Given the description of an element on the screen output the (x, y) to click on. 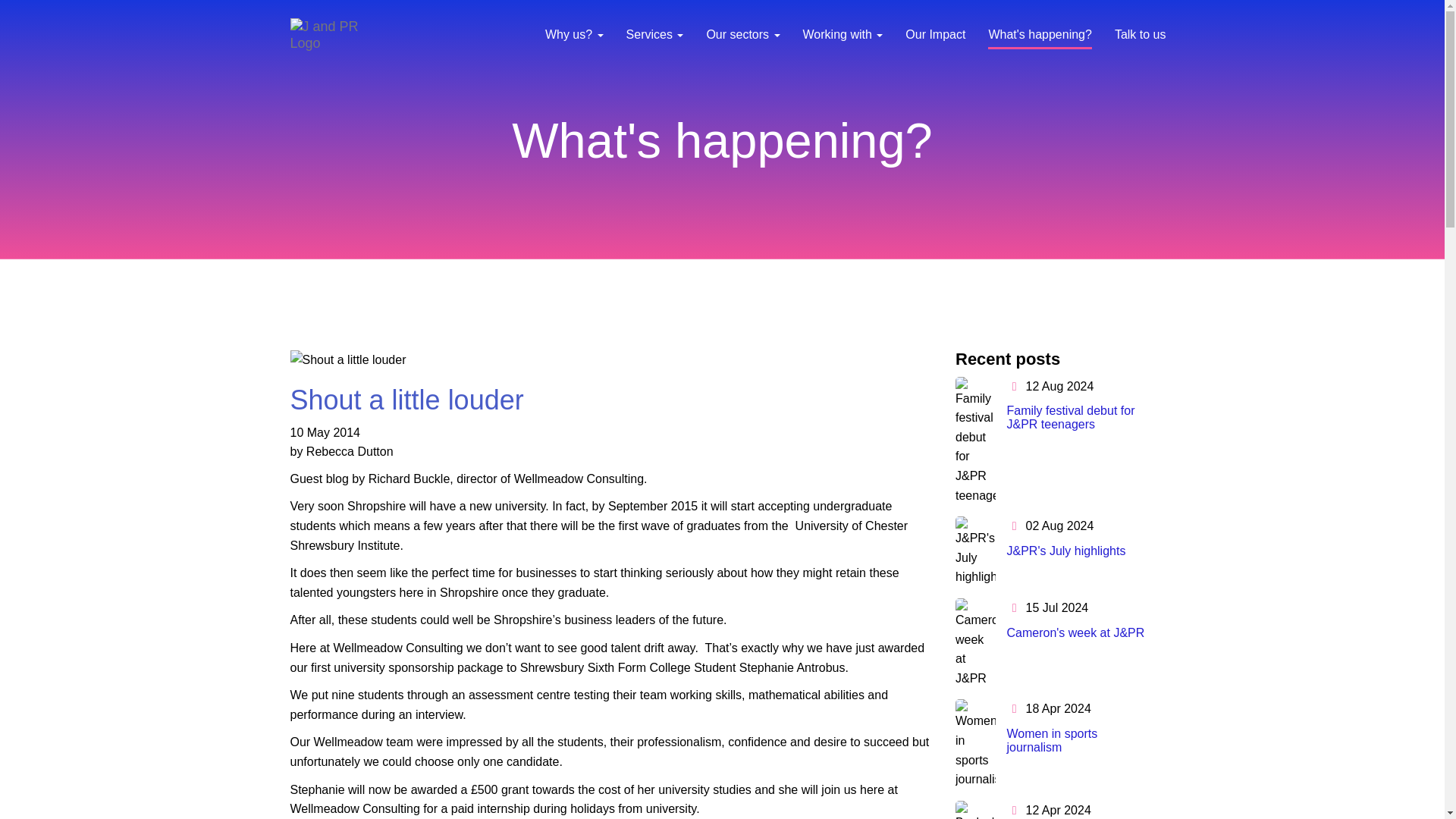
Why us? (574, 37)
What's happening? (1039, 37)
Talk to us (1140, 37)
Working with (843, 37)
Women in sports journalism (1052, 740)
Services (655, 37)
Our Impact (935, 37)
Our sectors (742, 37)
